Given the description of an element on the screen output the (x, y) to click on. 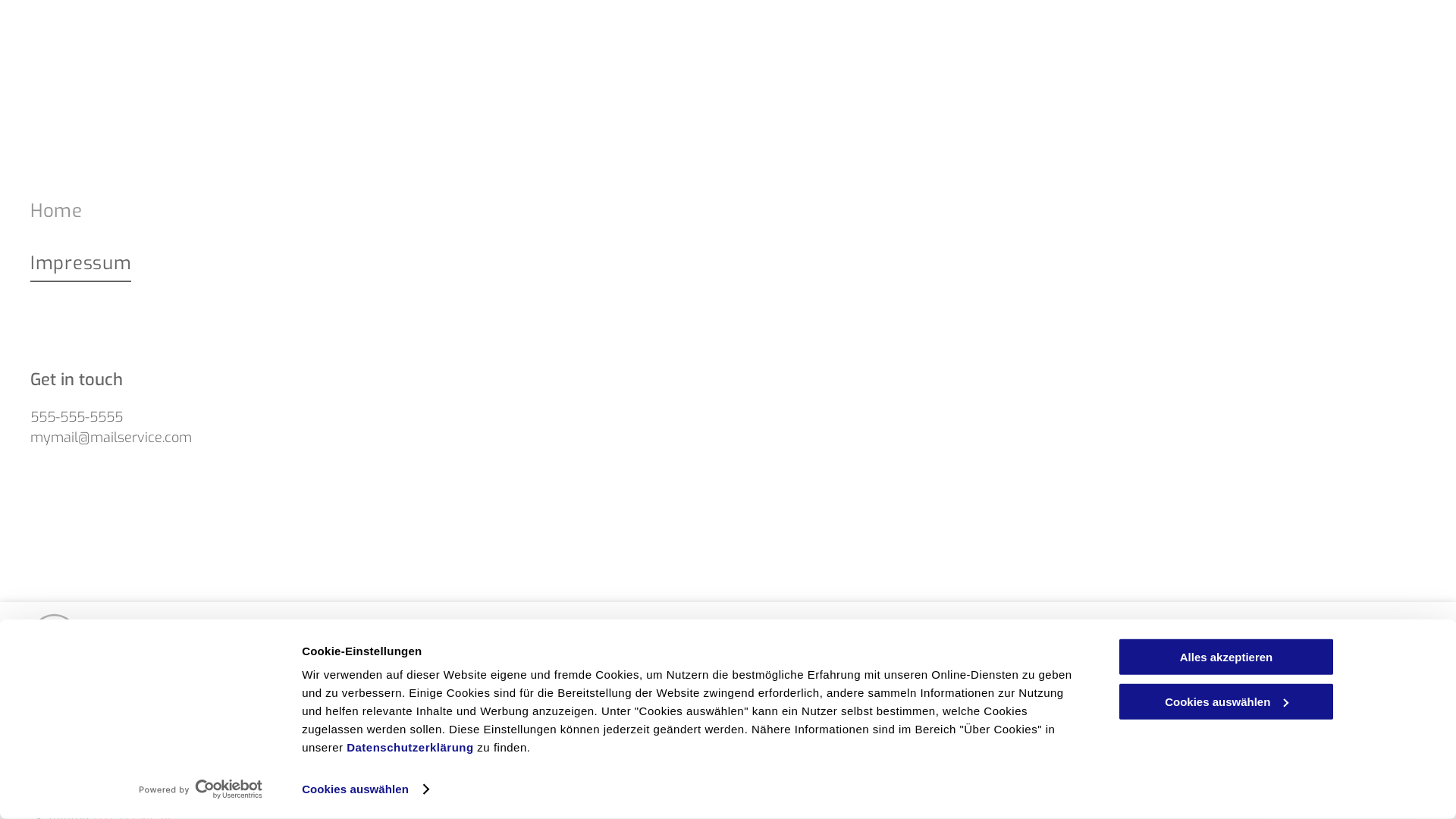
Impressum Element type: text (386, 263)
Alles akzeptieren Element type: text (1225, 656)
Home Element type: text (386, 210)
